Given the description of an element on the screen output the (x, y) to click on. 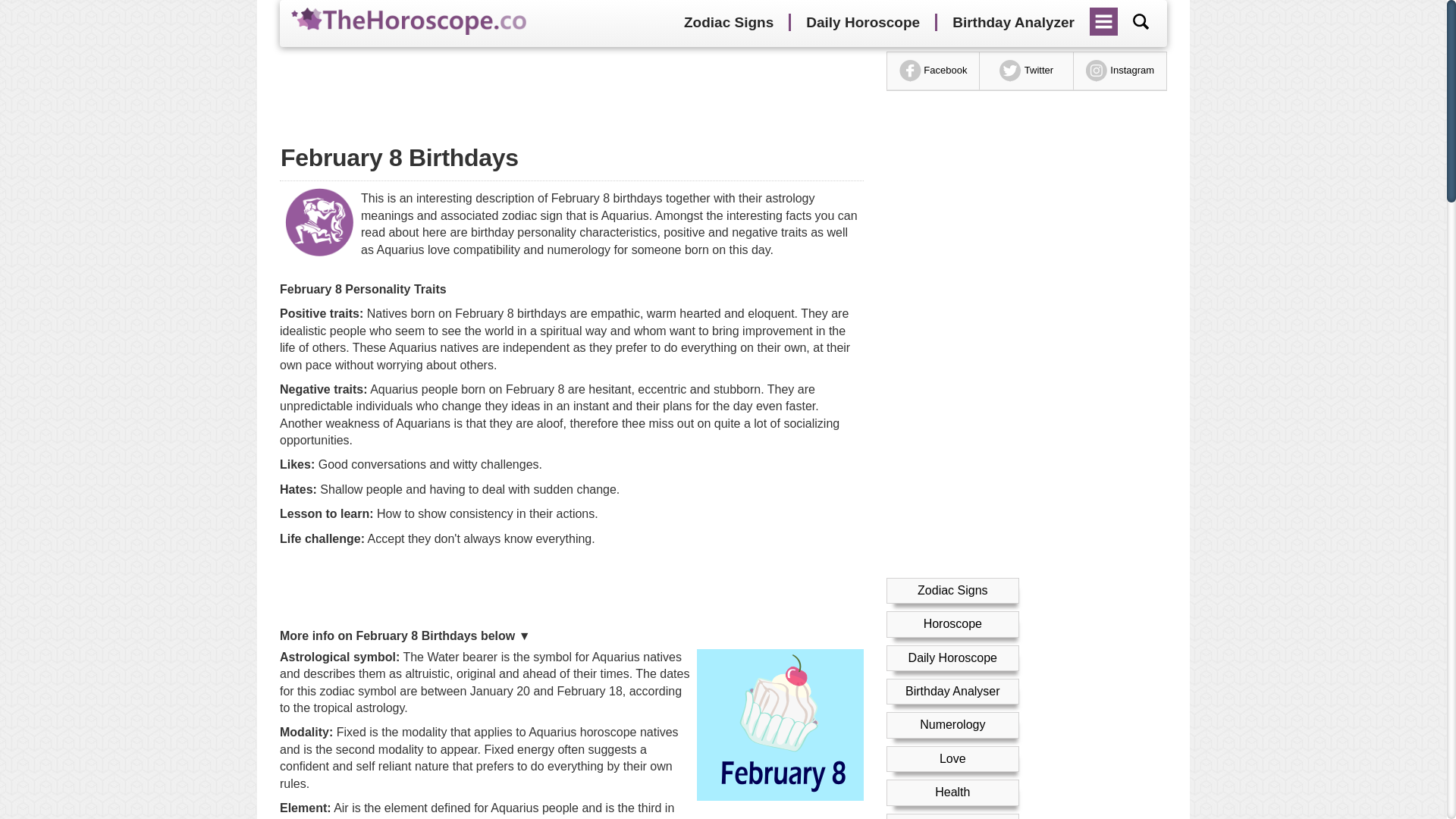
Search by your birthday... (1140, 21)
Birthday Analyzer (1013, 22)
Advertisement (571, 589)
Daily Horoscope (862, 22)
Advertisement (571, 88)
Zodiac Signs (728, 22)
Menu (1104, 16)
